Given the description of an element on the screen output the (x, y) to click on. 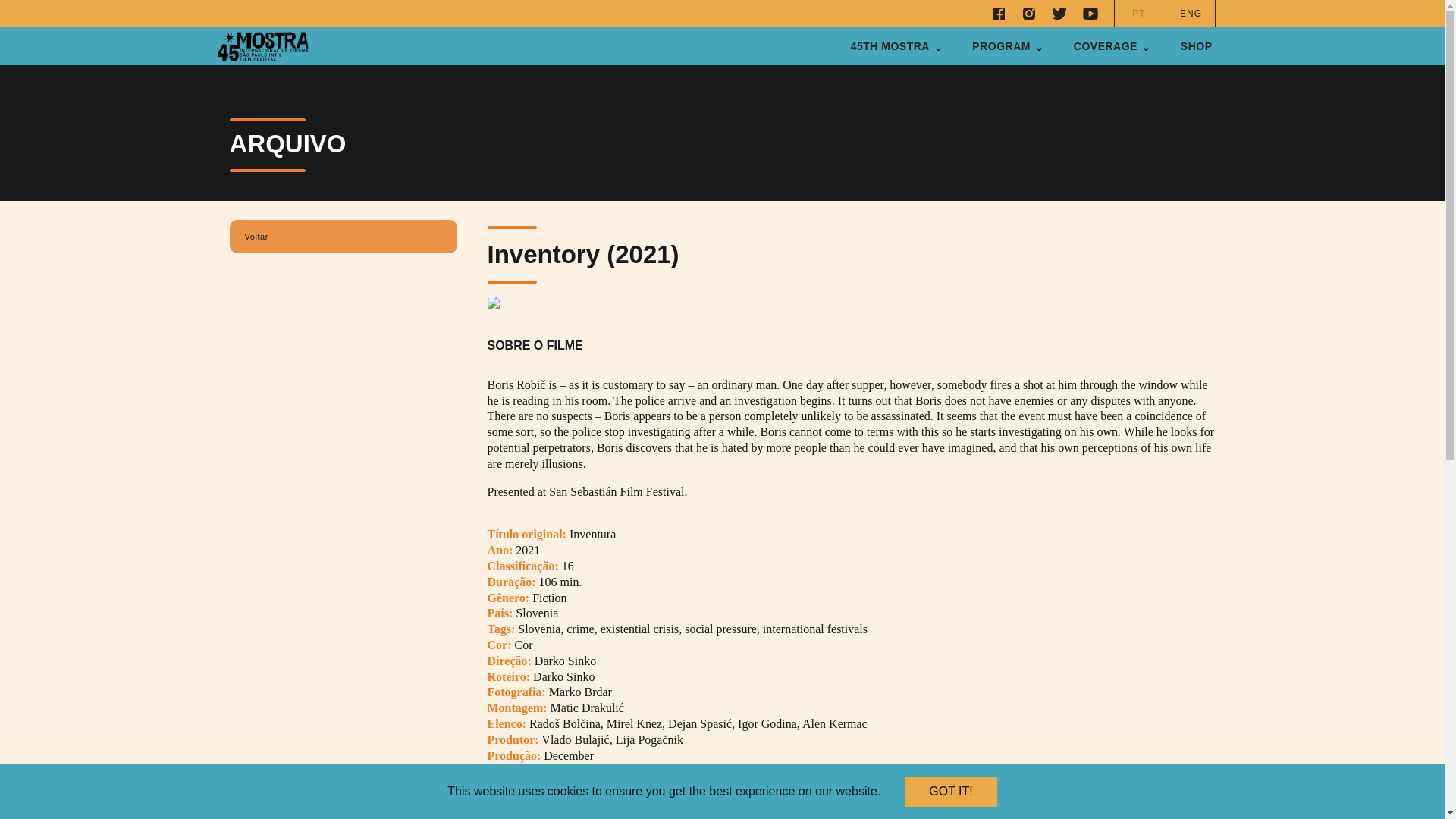
Voltar (255, 236)
SHOP (1196, 45)
GOT IT! (949, 791)
ENG (1190, 13)
PT (1139, 13)
